Given the description of an element on the screen output the (x, y) to click on. 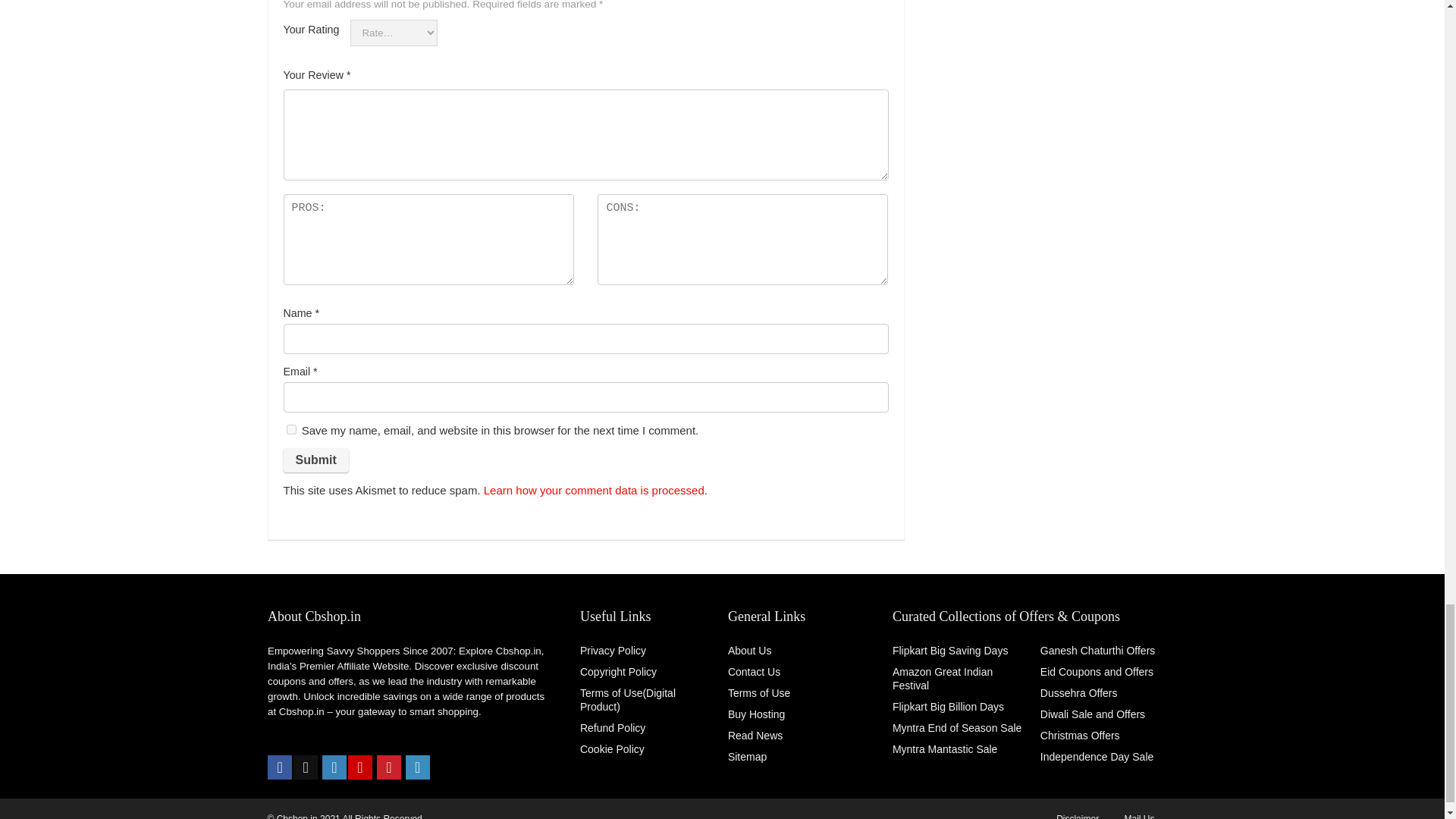
Submit (316, 459)
Facebook (279, 767)
Pinterest (389, 767)
yes (291, 429)
Youtube (359, 767)
twitter (305, 767)
Instagramm (333, 767)
Linkedin (417, 767)
